Given the description of an element on the screen output the (x, y) to click on. 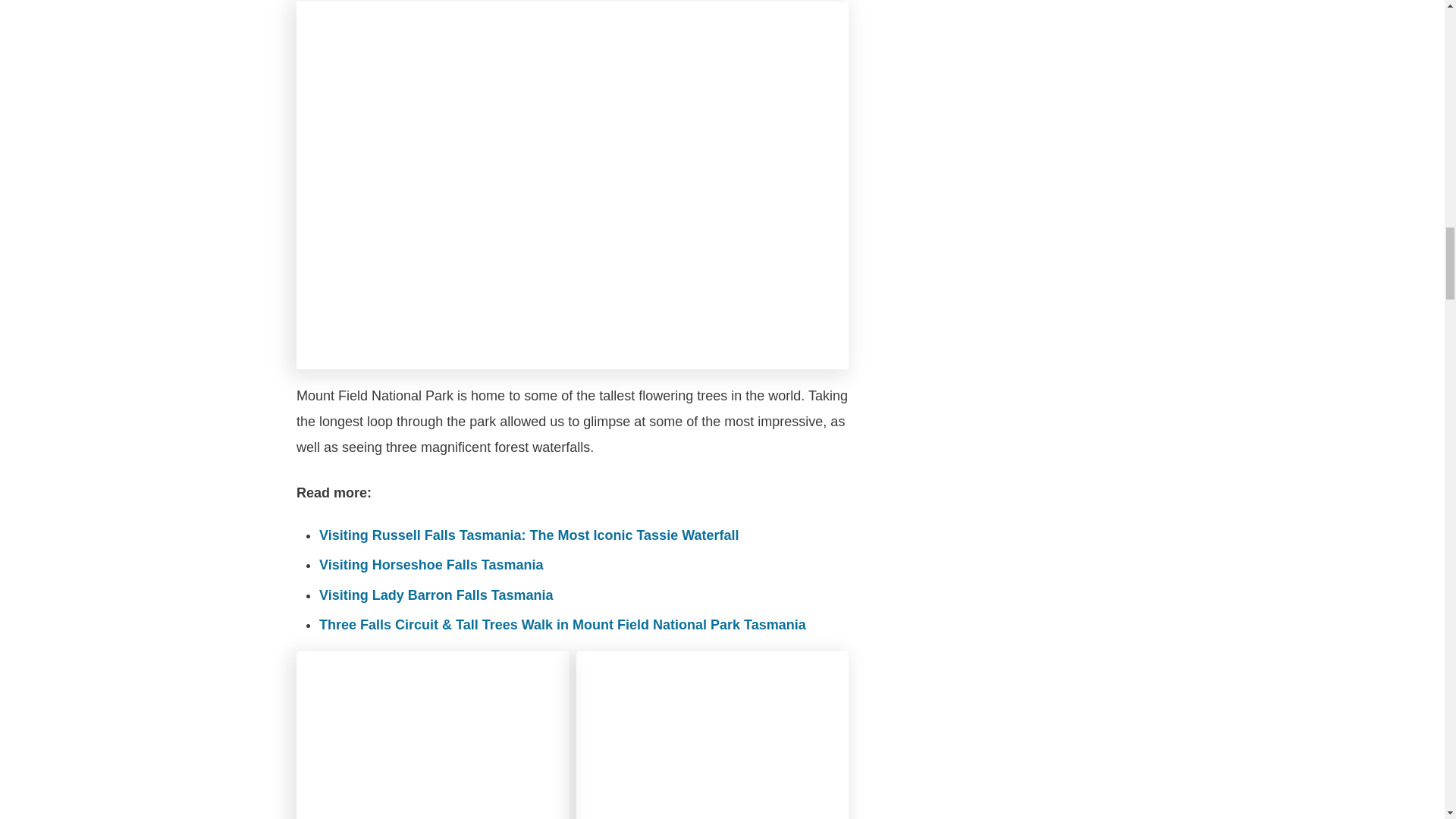
Van Journal Week 5: Tassie Tour With Mum (433, 735)
Van Journal Week 5: Tassie Tour With Mum (712, 735)
